Given the description of an element on the screen output the (x, y) to click on. 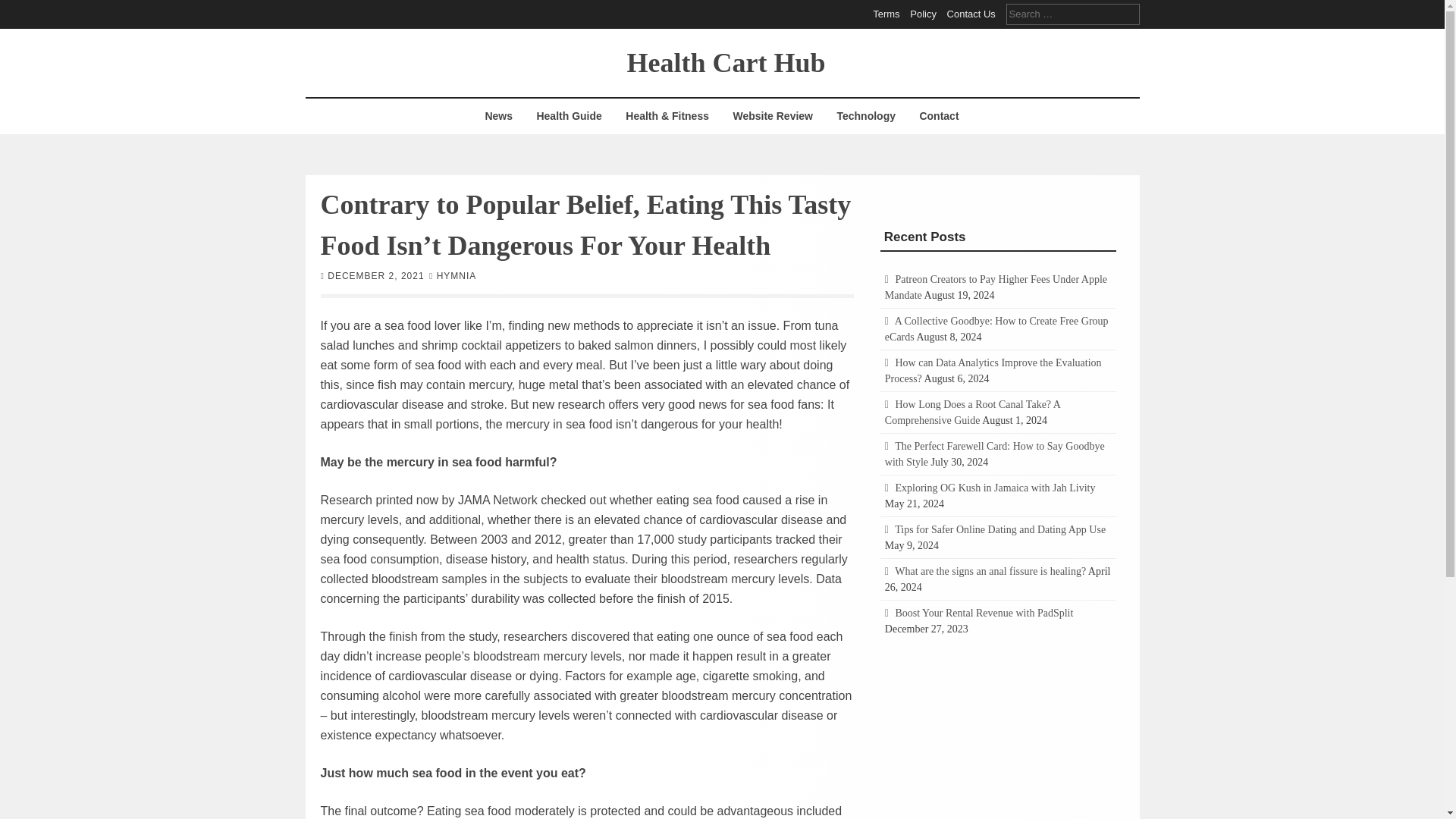
Website Review (772, 116)
The Perfect Farewell Card: How to Say Goodbye with Style (995, 453)
Search (23, 9)
What are the signs an anal fissure is healing? (990, 571)
Exploring OG Kush in Jamaica with Jah Livity (994, 487)
A Collective Goodbye: How to Create Free Group eCards (996, 329)
News (498, 116)
Contact (938, 116)
Technology (866, 116)
Patreon Creators to Pay Higher Fees Under Apple Mandate (995, 287)
